Given the description of an element on the screen output the (x, y) to click on. 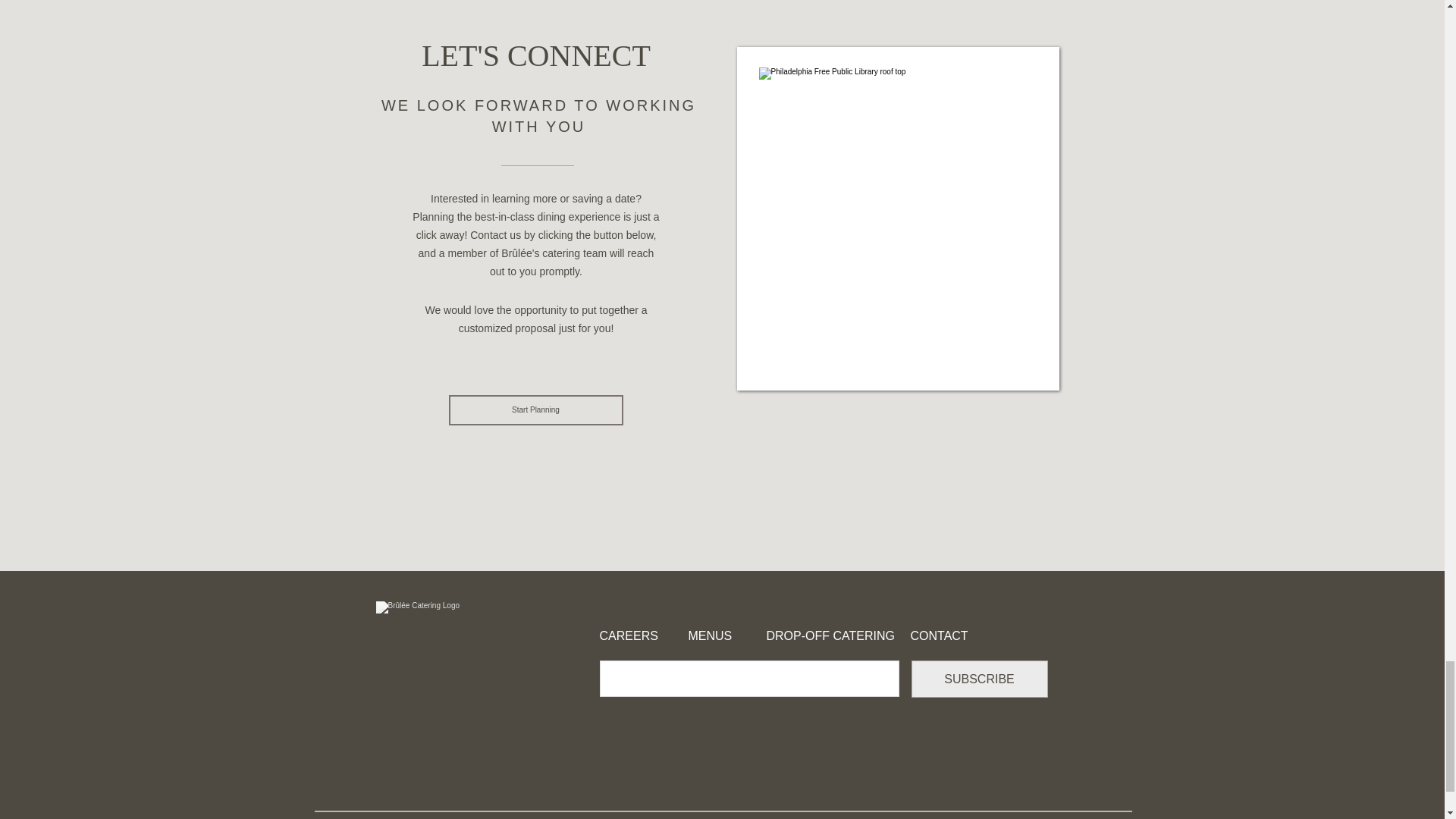
Start Planning (535, 409)
MENUS (732, 635)
SUBSCRIBE (979, 678)
CAREERS (642, 635)
CONTACT (946, 635)
DROP-OFF CATERING (829, 635)
